Given the description of an element on the screen output the (x, y) to click on. 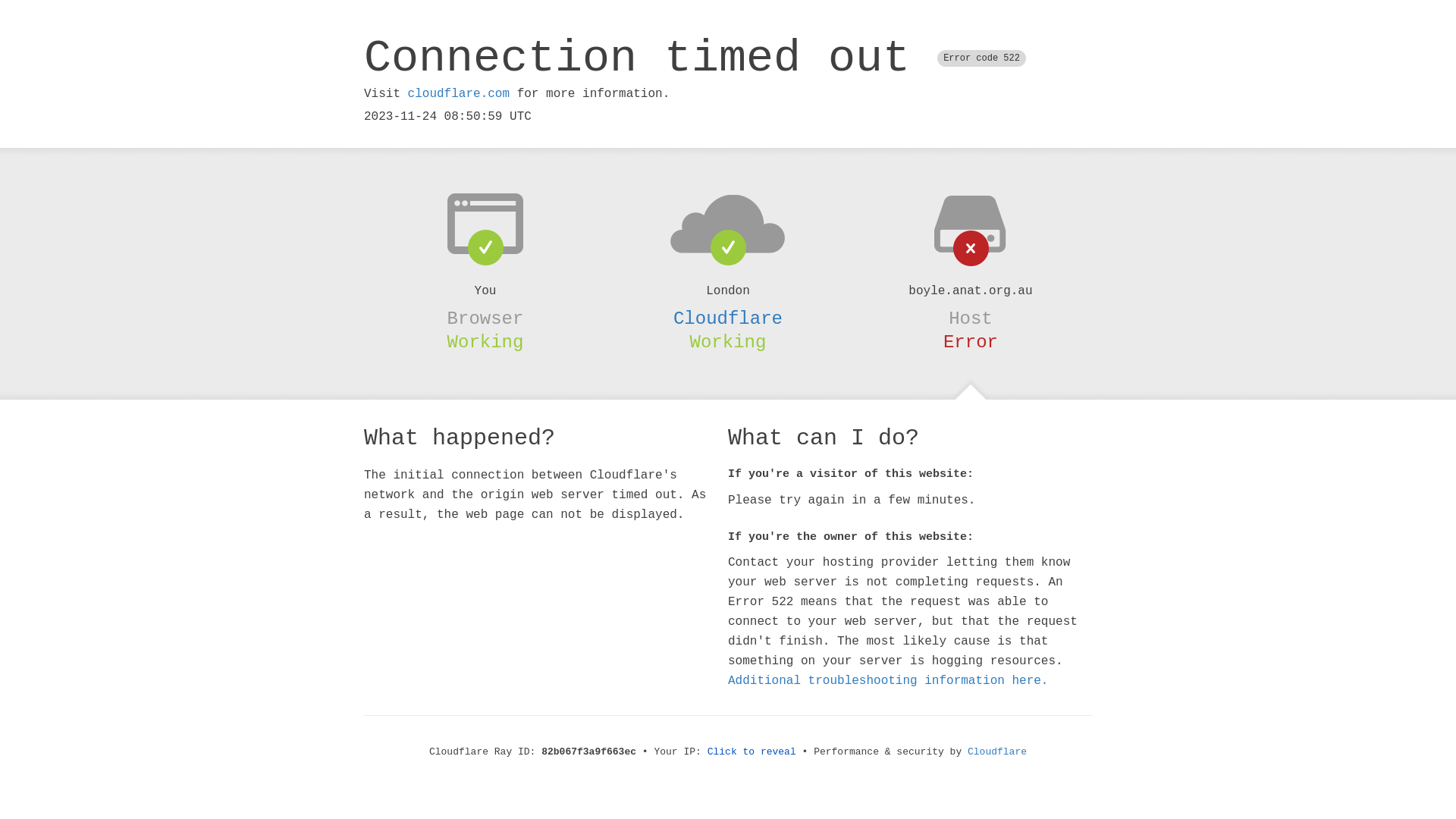
Cloudflare Element type: text (996, 751)
Click to reveal Element type: text (751, 751)
cloudflare.com Element type: text (458, 93)
Additional troubleshooting information here. Element type: text (888, 680)
Cloudflare Element type: text (727, 318)
